Given the description of an element on the screen output the (x, y) to click on. 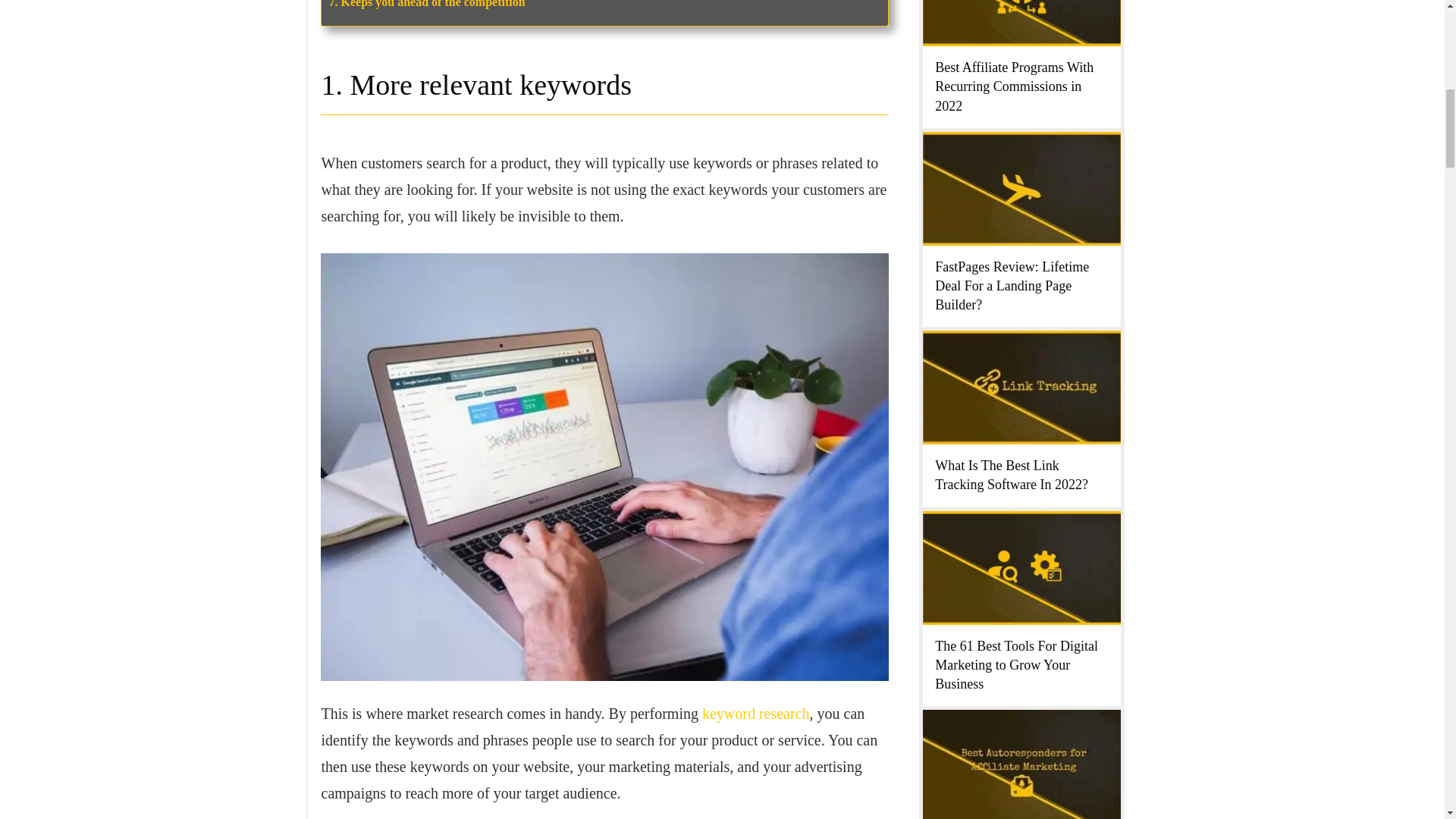
What Is The Best Link Tracking Software In 2022? (1010, 474)
7. Keeps you ahead of the competition (427, 4)
FastPages Review: Lifetime Deal For a Landing Page Builder? (1011, 285)
Best Affiliate Programs With Recurring Commissions in 2022 (1013, 86)
